Given the description of an element on the screen output the (x, y) to click on. 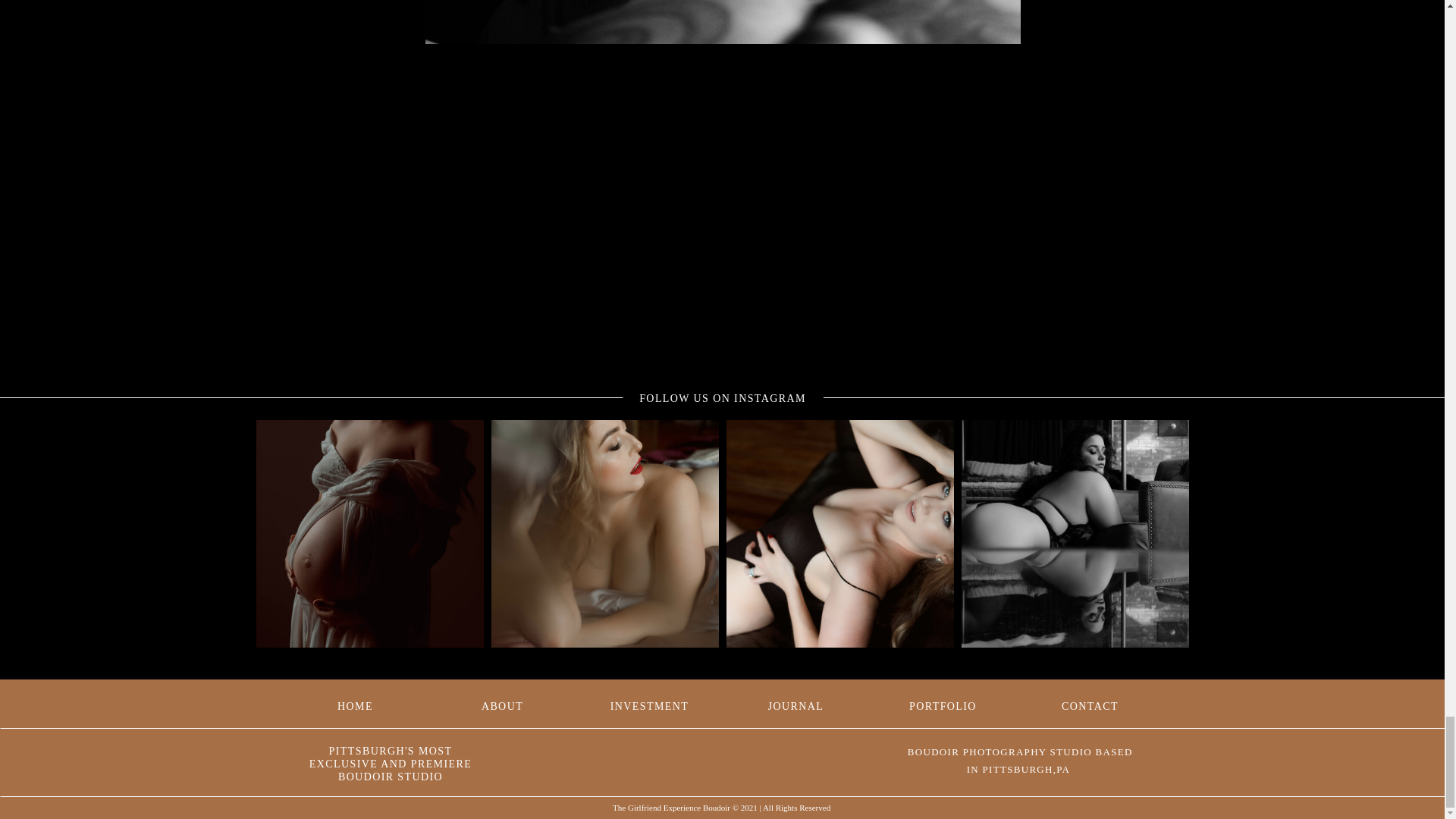
ABOUT (503, 703)
PORTFOLIO (942, 703)
HOME (355, 703)
CONTACT (1089, 703)
FOLLOW US ON INSTAGRAM (722, 396)
JOURNAL (795, 703)
INVESTMENT (650, 703)
